Given the description of an element on the screen output the (x, y) to click on. 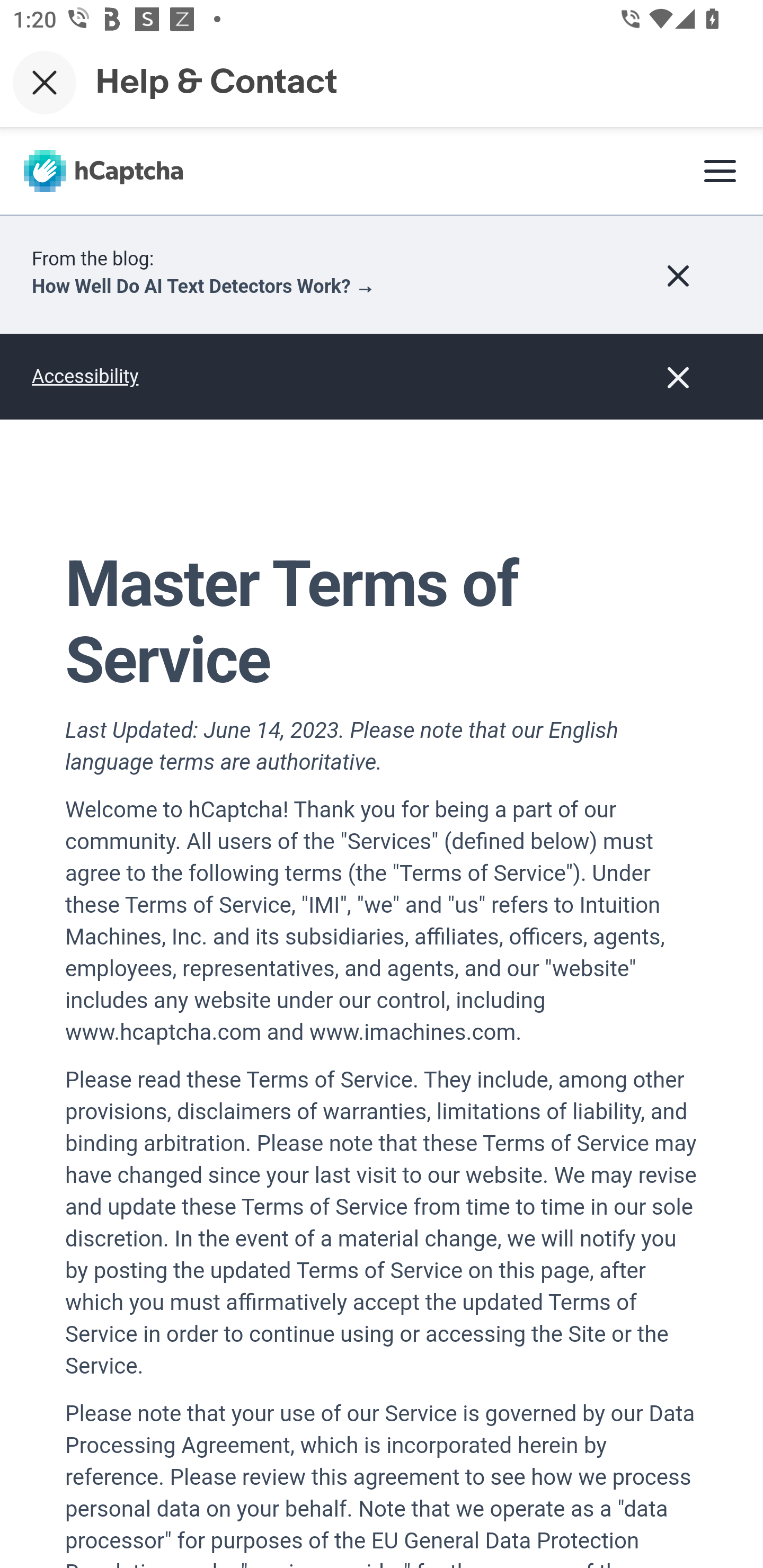
Close (44, 82)
hCaptcha home page hCaptcha logo (horizontal) (103, 170)
How Well Do AI Text Detectors Work? → (203, 286)
